Given the description of an element on the screen output the (x, y) to click on. 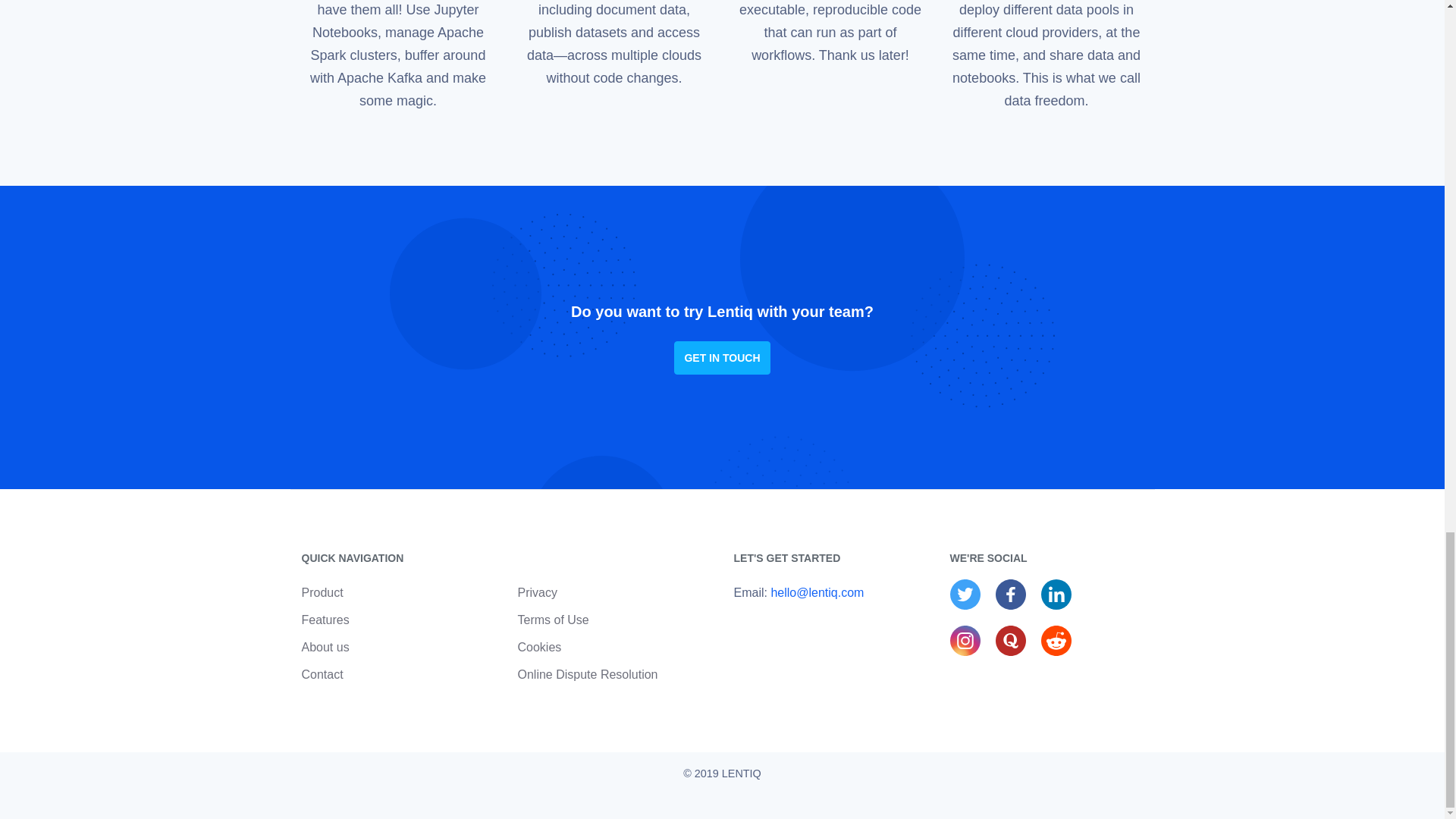
Privacy (536, 592)
About us (325, 646)
Contact (322, 674)
Features (325, 619)
GET IN TOUCH (722, 357)
Product (322, 592)
Terms of Use (552, 619)
Online Dispute Resolution (587, 674)
Cookies (538, 646)
